Given the description of an element on the screen output the (x, y) to click on. 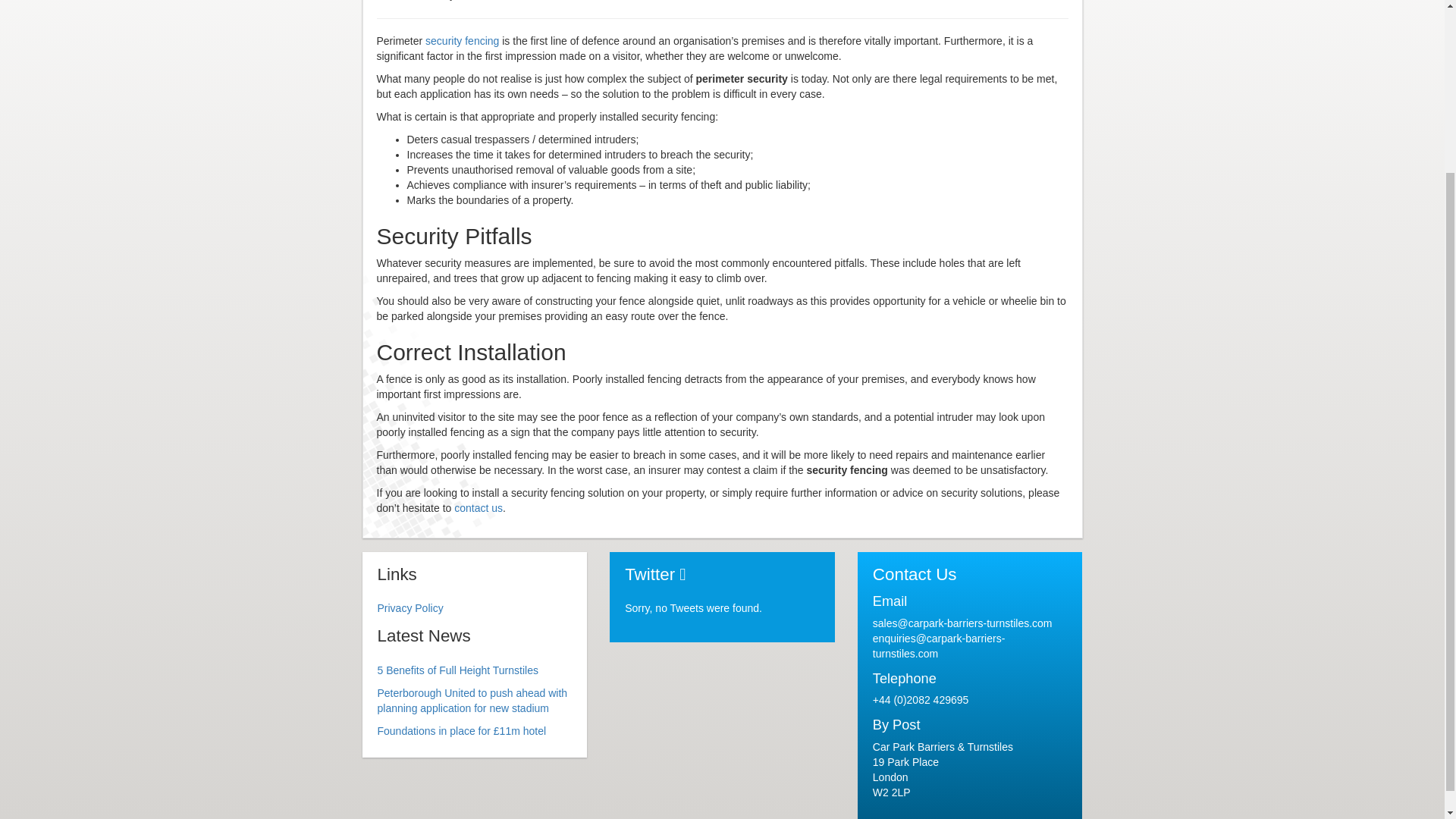
security fencing (462, 40)
contact us (478, 508)
Privacy Policy (410, 607)
5 Benefits of Full Height Turnstiles (457, 670)
